Given the description of an element on the screen output the (x, y) to click on. 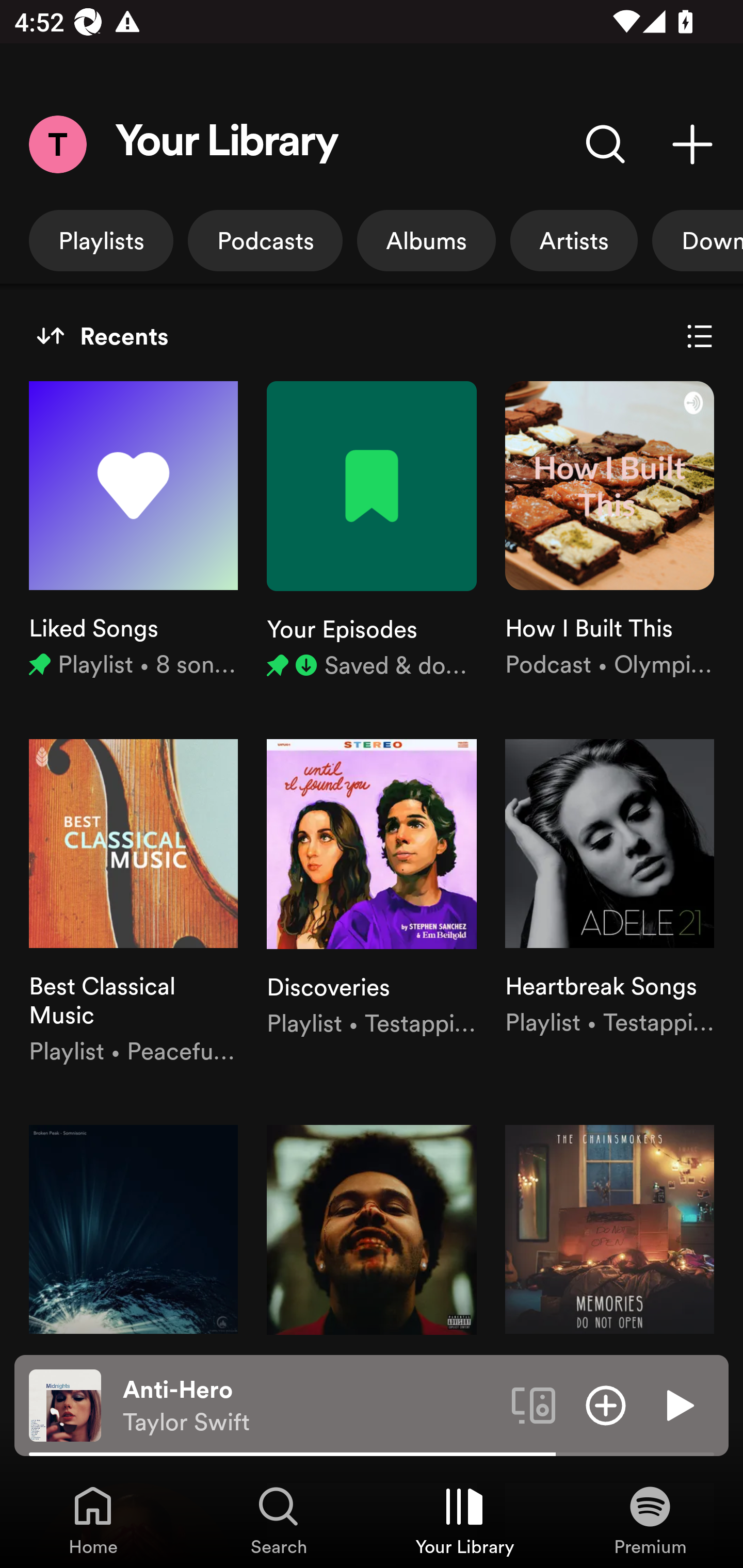
Menu (57, 144)
Search Your Library (605, 144)
Create playlist (692, 144)
Your Library Your Library Heading (226, 144)
Playlists, show only playlists. (100, 240)
Podcasts, show only podcasts. (264, 240)
Albums, show only albums. (426, 240)
Artists, show only artists. (573, 240)
Downloaded, show only downloaded. (697, 240)
Recents (101, 336)
Show List view (699, 336)
Anti-Hero Taylor Swift (309, 1405)
The cover art of the currently playing track (64, 1404)
Connect to a device. Opens the devices menu (533, 1404)
Add item (605, 1404)
Play (677, 1404)
Home, Tab 1 of 4 Home Home (92, 1519)
Search, Tab 2 of 4 Search Search (278, 1519)
Your Library, Tab 3 of 4 Your Library Your Library (464, 1519)
Premium, Tab 4 of 4 Premium Premium (650, 1519)
